Given the description of an element on the screen output the (x, y) to click on. 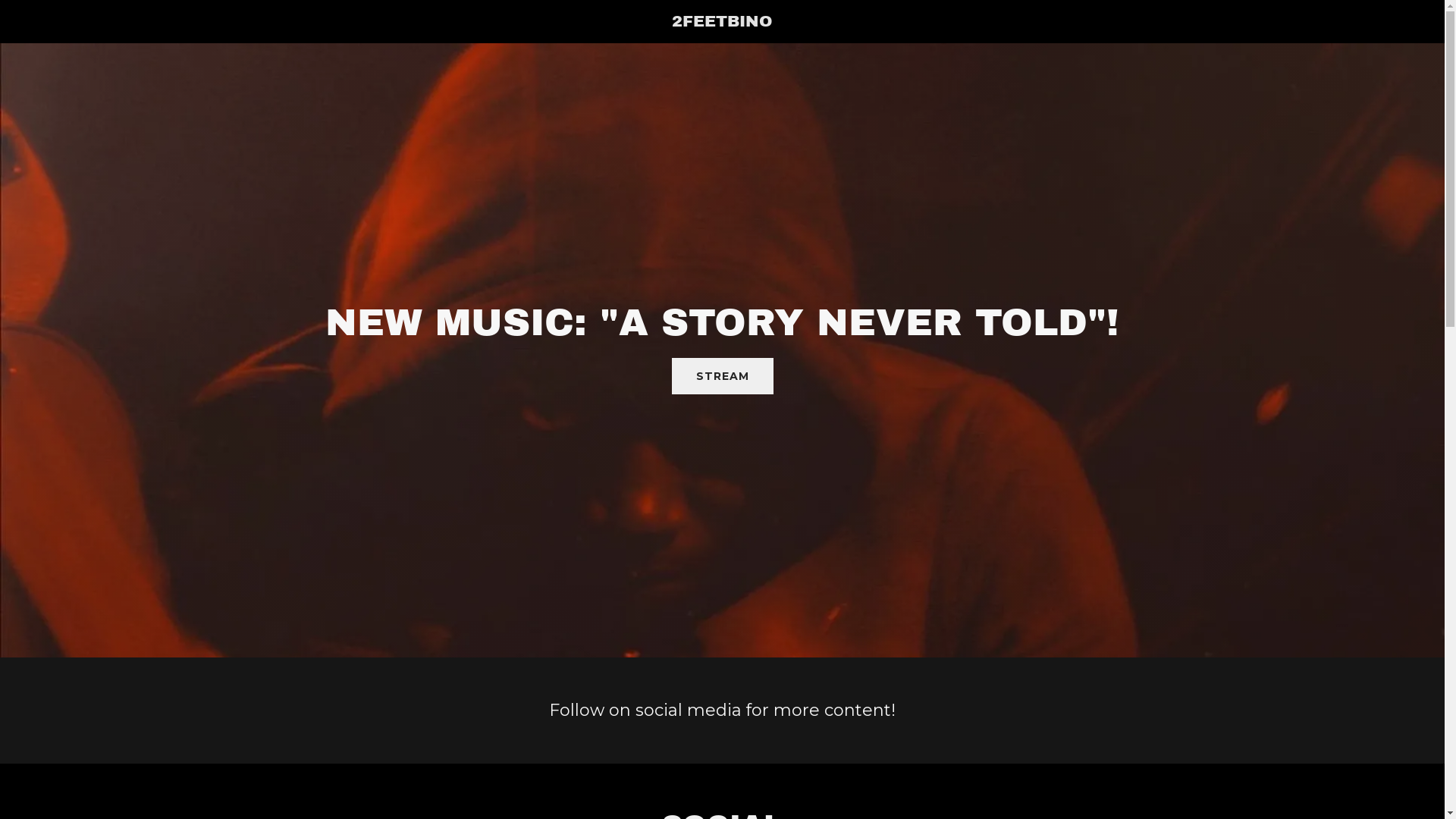
2FEETBINO Element type: text (722, 22)
STREAM Element type: text (722, 375)
